Given the description of an element on the screen output the (x, y) to click on. 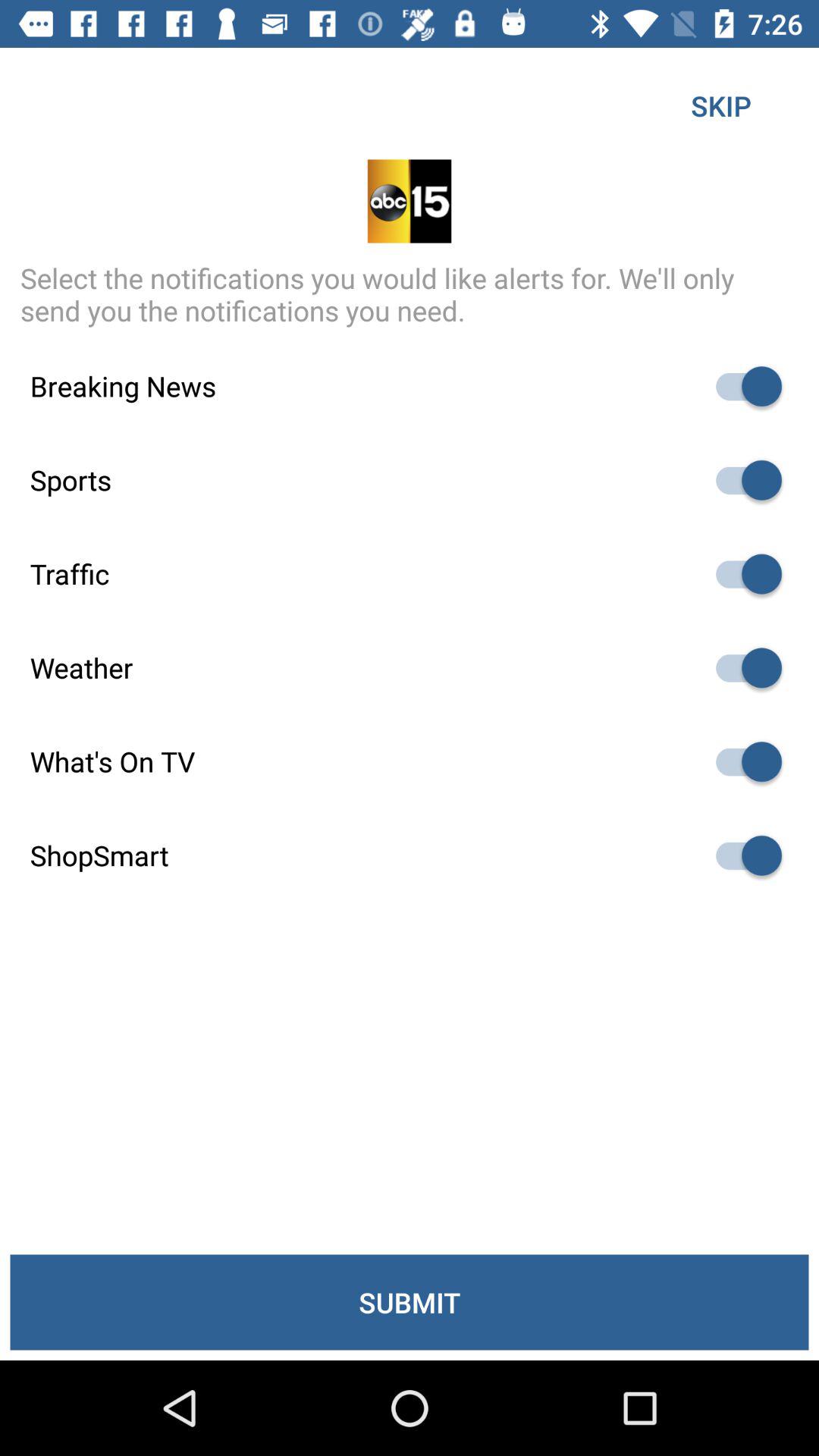
deselect item (741, 386)
